Given the description of an element on the screen output the (x, y) to click on. 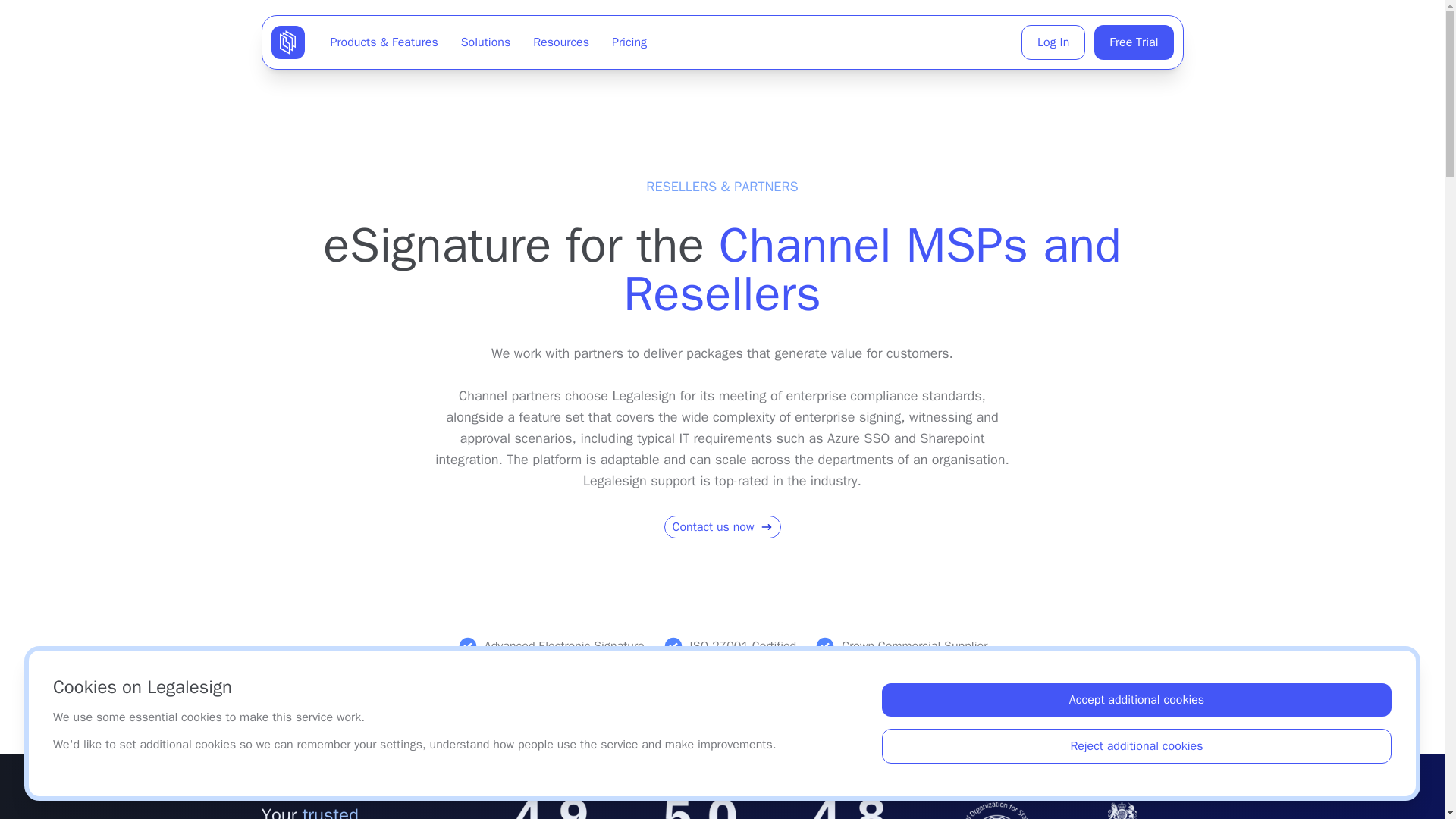
Solutions (485, 41)
Pricing (628, 41)
Resources (560, 41)
Contact us now (721, 526)
Free Trial (1133, 42)
Log In (1053, 42)
